Given the description of an element on the screen output the (x, y) to click on. 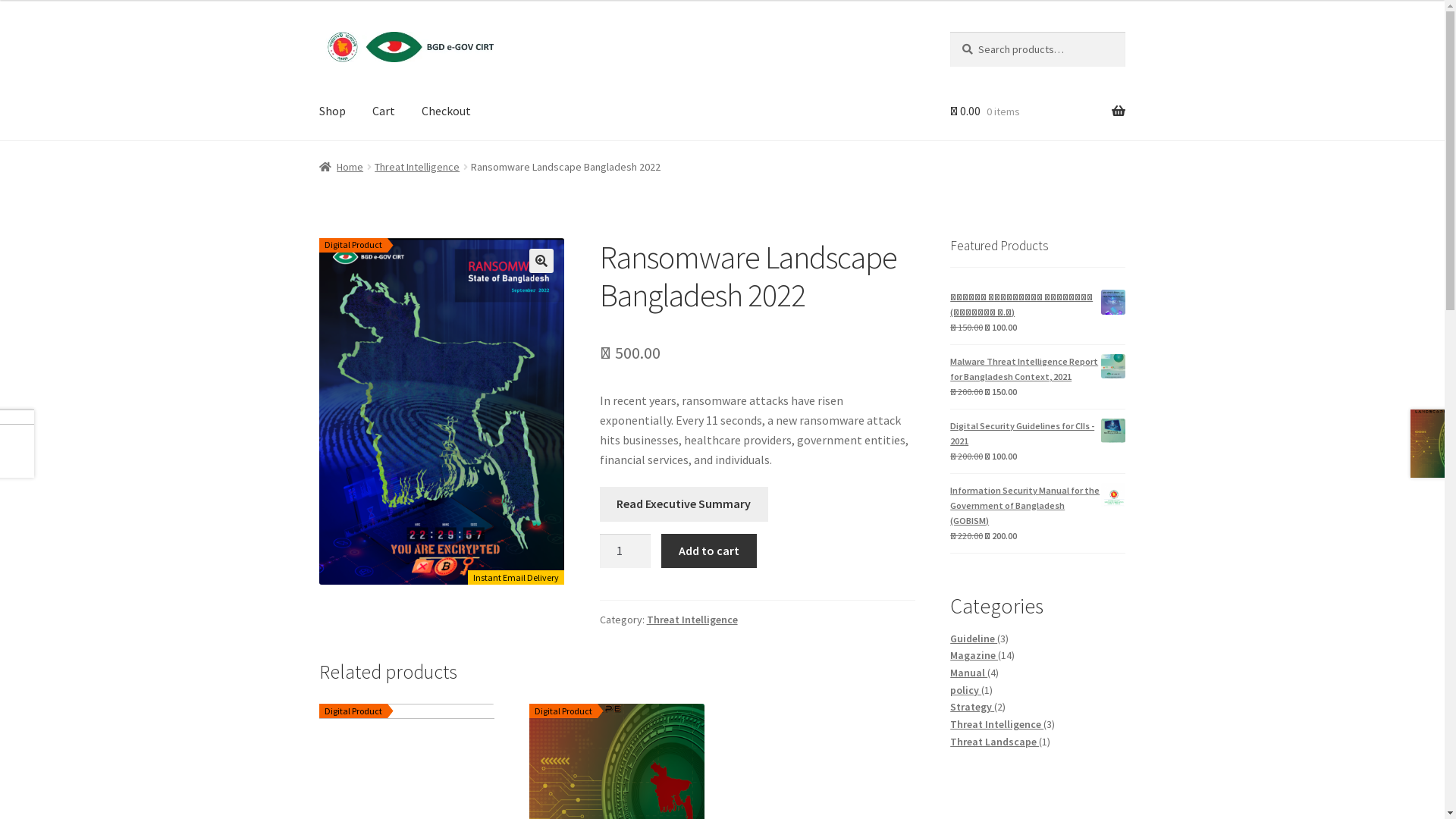
Add to cart Element type: text (708, 550)
Digital Security Guidelines for CIIs - 2021 Element type: text (1037, 433)
Ransom-State-BG-v2-small Element type: hover (441, 411)
Qty Element type: hover (625, 550)
Read Executive Summary Element type: text (683, 503)
Checkout Element type: text (446, 111)
Shop Element type: text (332, 111)
Threat Intelligence Element type: text (691, 619)
Guideline Element type: text (973, 638)
Strategy Element type: text (972, 706)
Skip to navigation Element type: text (318, 31)
Search Element type: text (949, 31)
Manual Element type: text (968, 672)
policy Element type: text (965, 689)
Threat Intelligence Element type: text (416, 166)
Cart Element type: text (383, 111)
Home Element type: text (341, 166)
Magazine Element type: text (973, 655)
Threat Intelligence Element type: text (996, 724)
Threat Landscape Element type: text (994, 741)
